Given the description of an element on the screen output the (x, y) to click on. 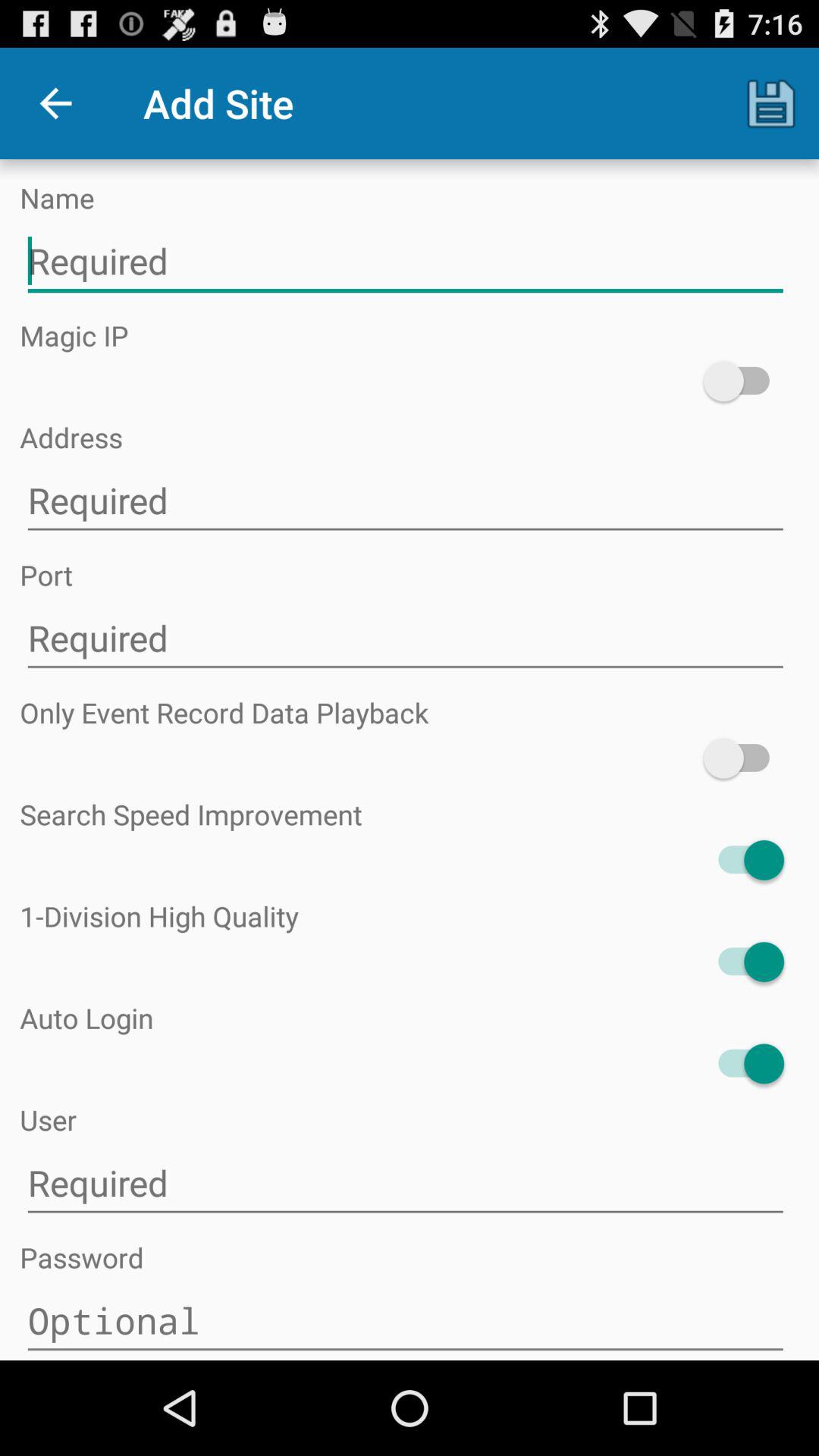
line to enter your port number (405, 638)
